Given the description of an element on the screen output the (x, y) to click on. 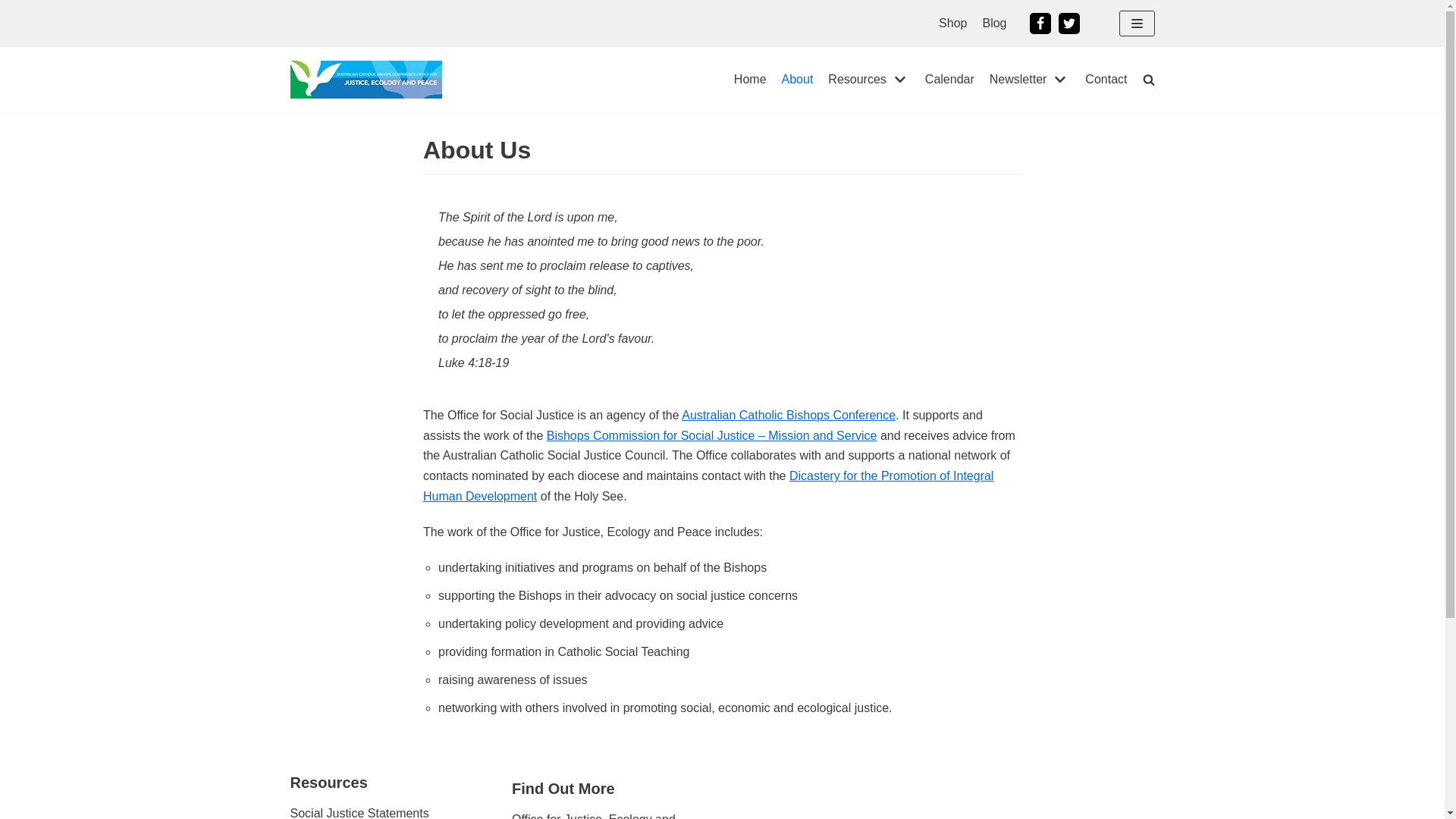
Twitter Element type: hover (1068, 23)
Dicastery for the Promotion of Integral Human Development Element type: text (708, 485)
Newsletter Element type: text (1029, 79)
Contact Element type: text (1105, 79)
Navigation Menu Element type: text (1136, 23)
About Element type: text (797, 79)
Facebook Element type: hover (1040, 23)
Blog Element type: text (994, 23)
Shop Element type: text (952, 23)
Home Element type: text (750, 79)
Resources Element type: text (868, 79)
Calendar Element type: text (949, 79)
Australian Catholic Bishops Conference Element type: text (788, 414)
Office For Justice, Ecology and Peace Element type: hover (365, 79)
Skip to content Element type: text (15, 7)
